Given the description of an element on the screen output the (x, y) to click on. 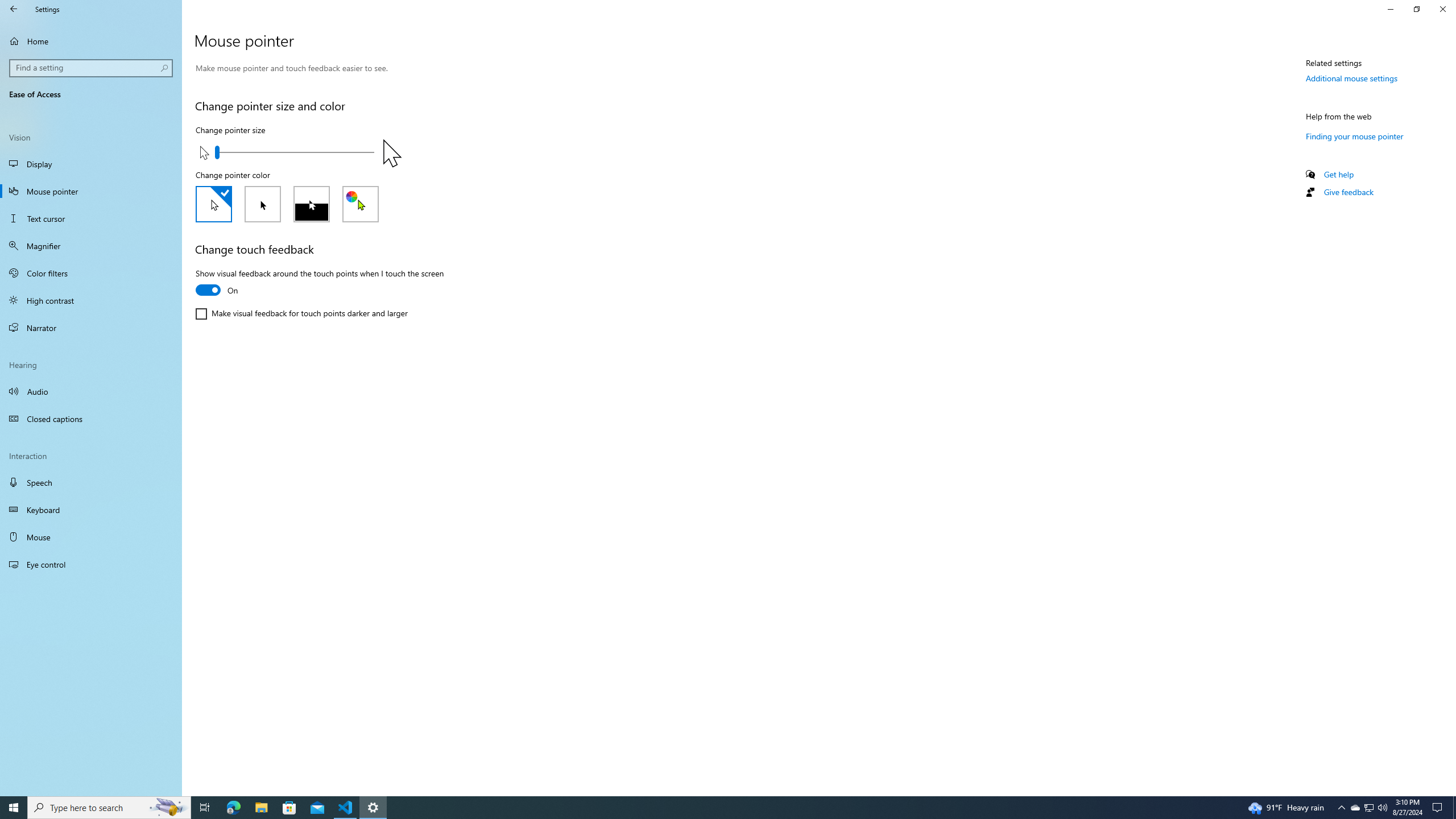
Back (13, 9)
Get help (1338, 173)
Additional mouse settings (1351, 77)
Keyboard (91, 509)
Finding your mouse pointer (1354, 136)
Home (91, 40)
Color filters (91, 272)
White (213, 204)
